Given the description of an element on the screen output the (x, y) to click on. 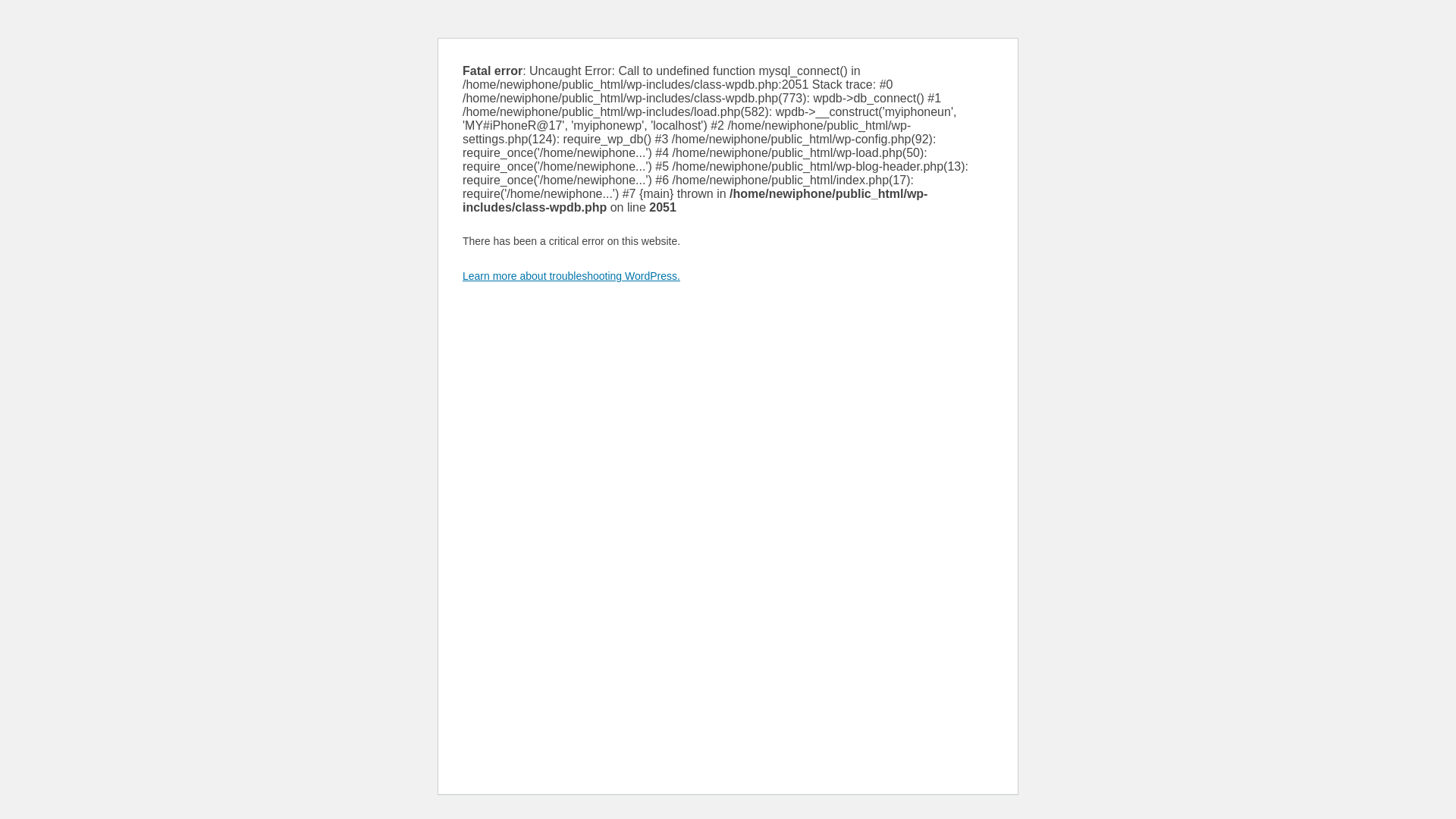
Learn more about troubleshooting WordPress. (571, 275)
